Given the description of an element on the screen output the (x, y) to click on. 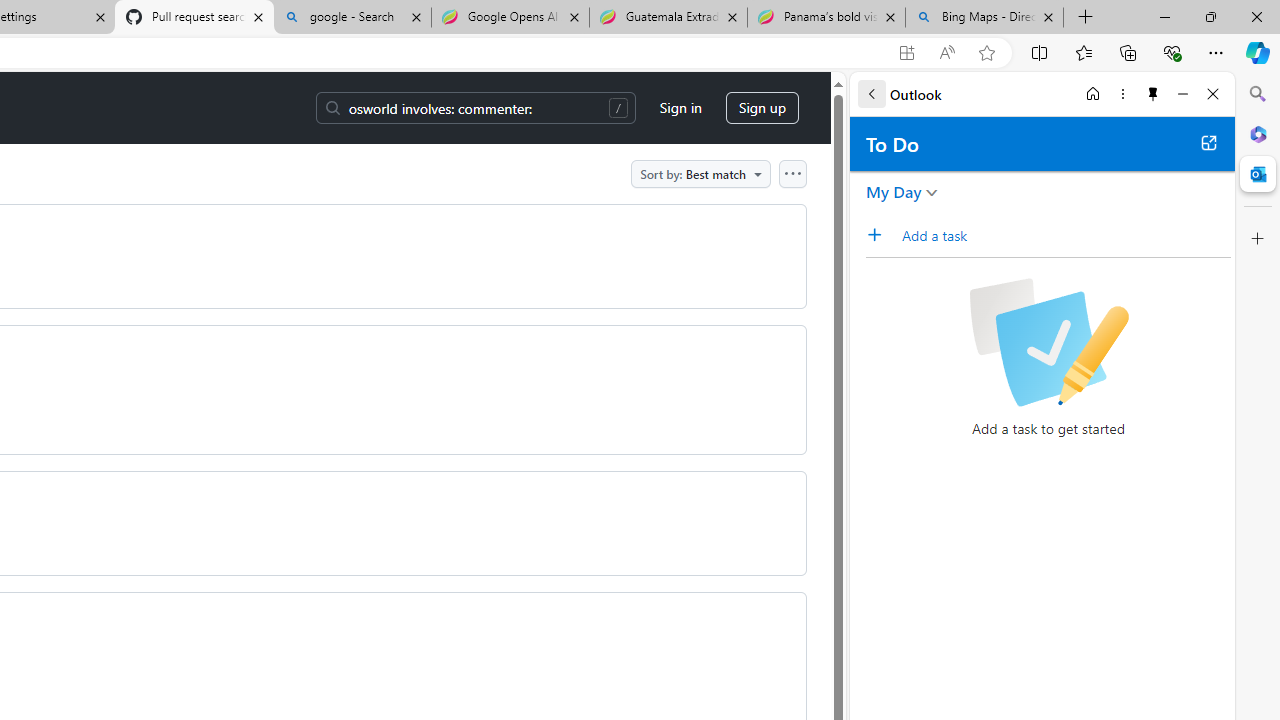
Open column options (792, 173)
App available. Install GitHub (906, 53)
Sort by: Best match (700, 173)
Checkbox with a pencil (1047, 342)
Open in new tab (1208, 142)
